Given the description of an element on the screen output the (x, y) to click on. 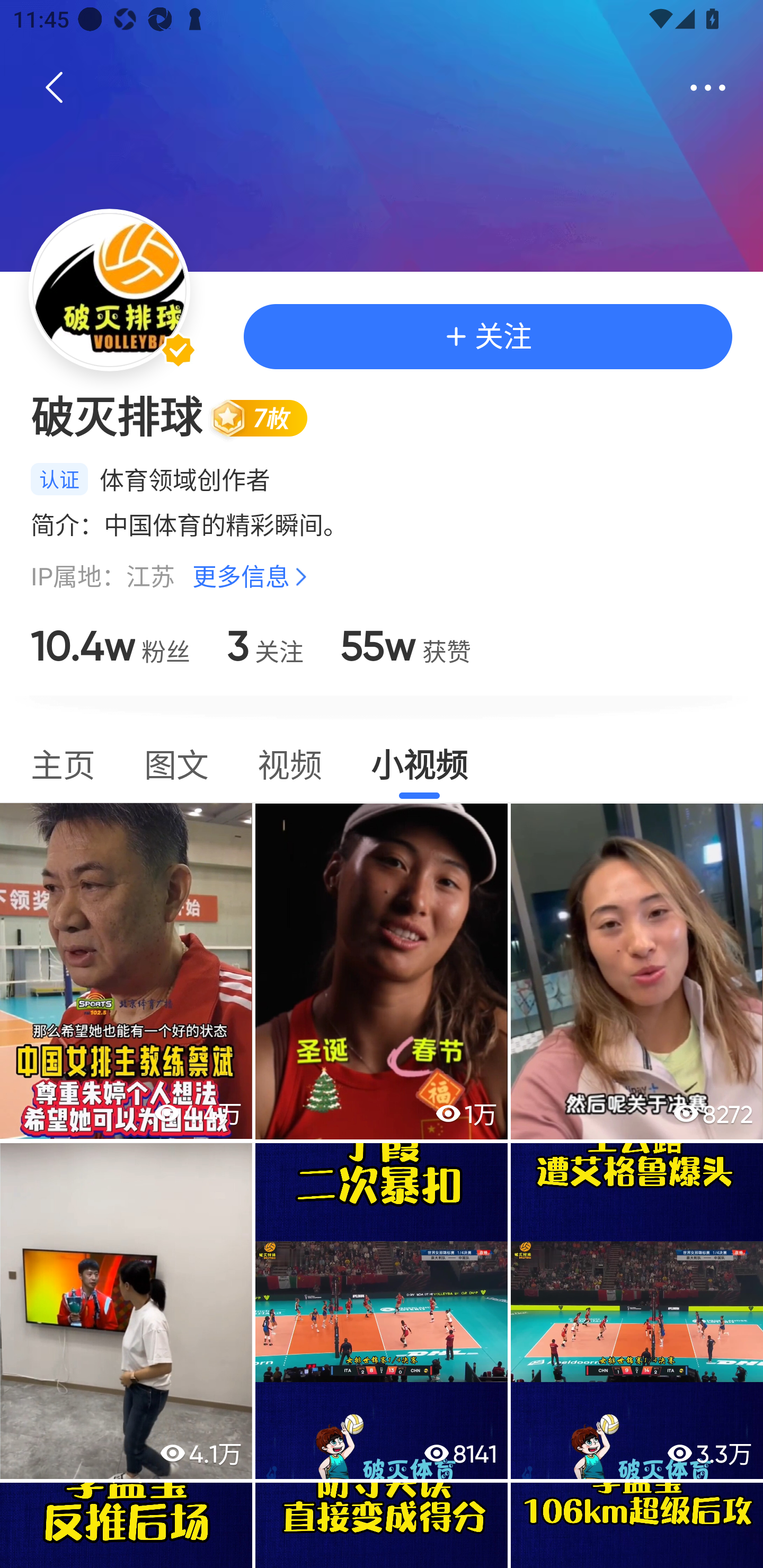
 返回 (54, 87)
 更多 (707, 87)
 关注 (487, 336)
7枚 (266, 417)
认证 (58, 478)
简介：中国体育的精彩瞬间。 (381, 524)
10.4w 粉丝 (109, 645)
3 关注 (264, 645)
55w 获赞 (405, 645)
主页 (62, 762)
图文 (176, 762)
视频 (289, 762)
小视频 (419, 762)
 4.4万 (126, 970)
 1万 (381, 970)
 8272 (636, 970)
 4.1万 (126, 1310)
 8141 (381, 1310)
 3.3万 (636, 1310)
